Given the description of an element on the screen output the (x, y) to click on. 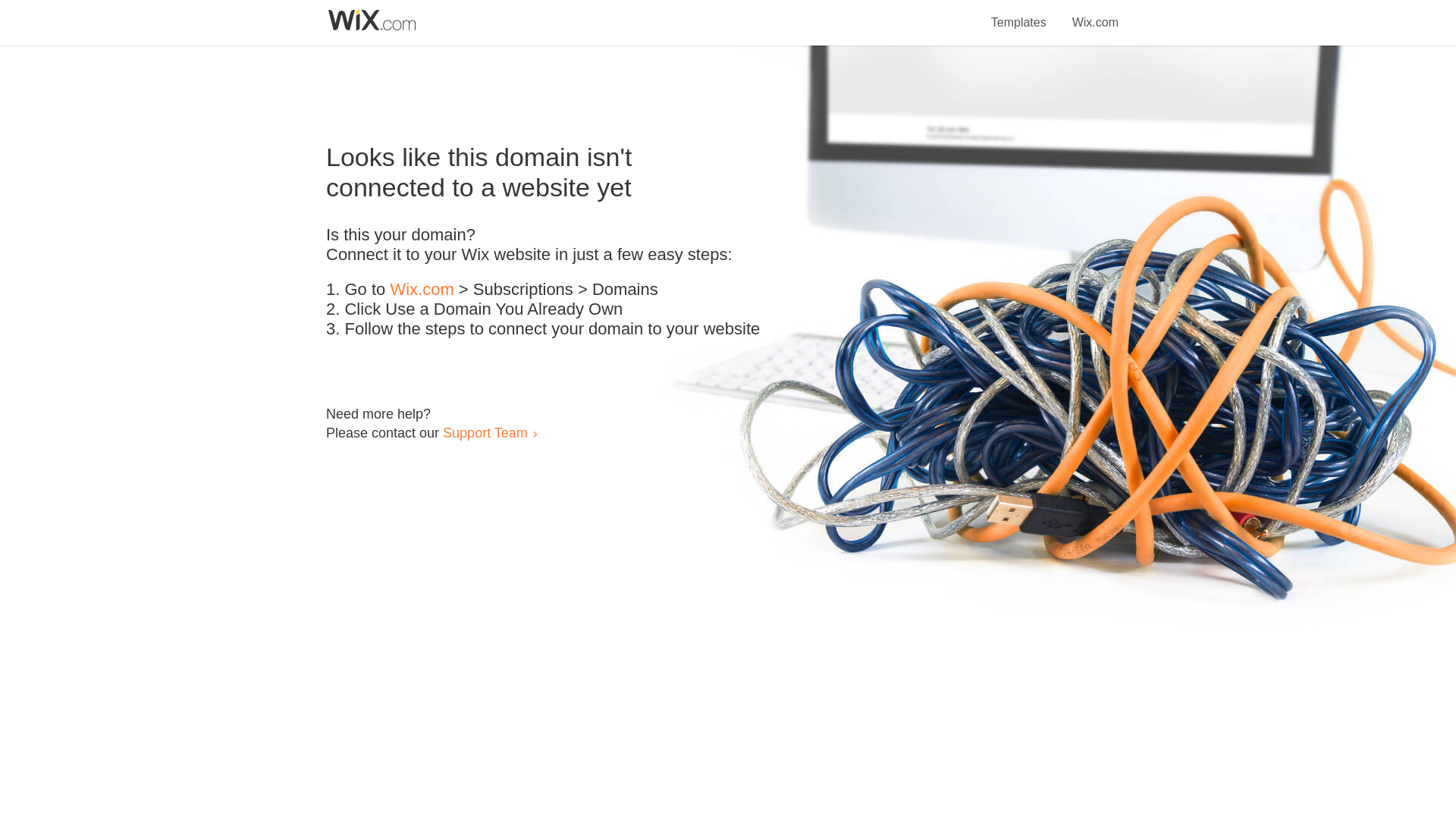
Wix.com (1095, 14)
Templates (1018, 14)
Support Team (484, 432)
Wix.com (421, 289)
